Given the description of an element on the screen output the (x, y) to click on. 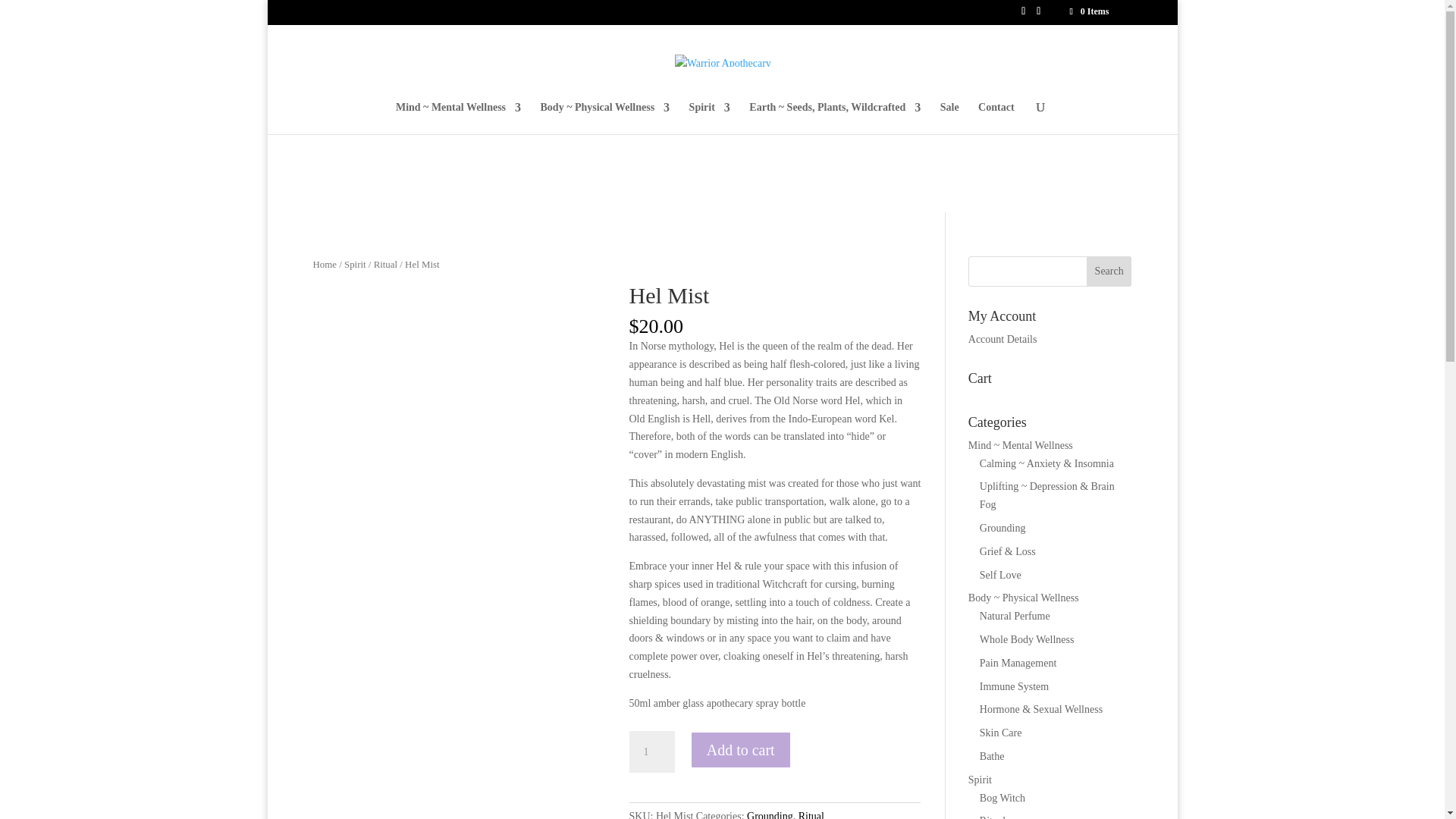
0 Items (1087, 10)
1 (651, 752)
Contact (995, 118)
Ritual (385, 264)
Home (324, 264)
Grounding (769, 814)
Add to cart (741, 750)
Spirit (354, 264)
Ritual (810, 814)
Search (1109, 271)
